Given the description of an element on the screen output the (x, y) to click on. 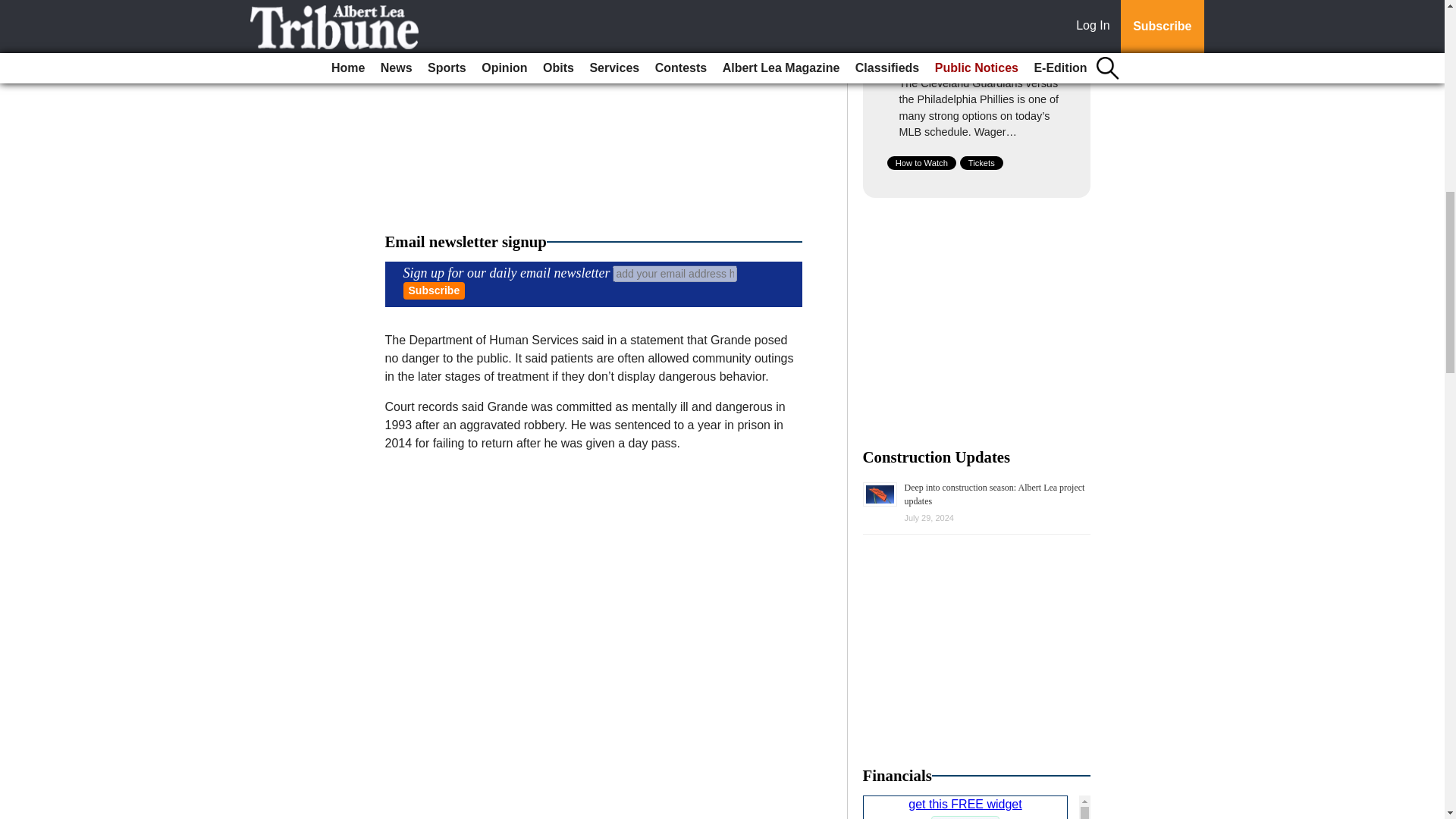
US Market Update (976, 807)
Subscribe (434, 290)
